Given the description of an element on the screen output the (x, y) to click on. 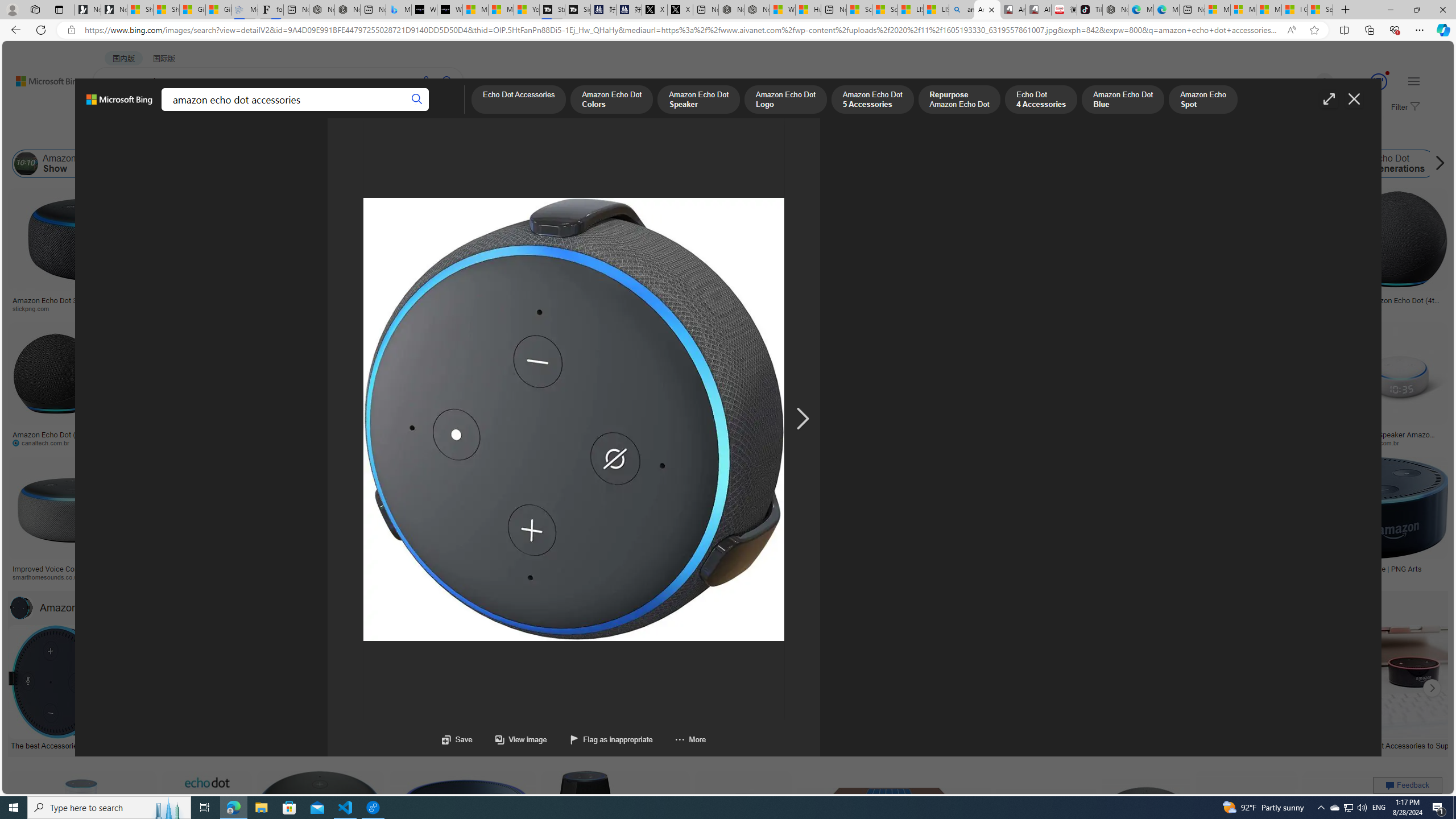
WEB (114, 111)
dulcesueno.com.ec (739, 442)
Amazon Echo Dot Accessories (21, 607)
stickpng.herokuapp.com (342, 308)
winmaec.com (1128, 442)
Amazon Echo Dot 5 Accessories (872, 100)
